Given the description of an element on the screen output the (x, y) to click on. 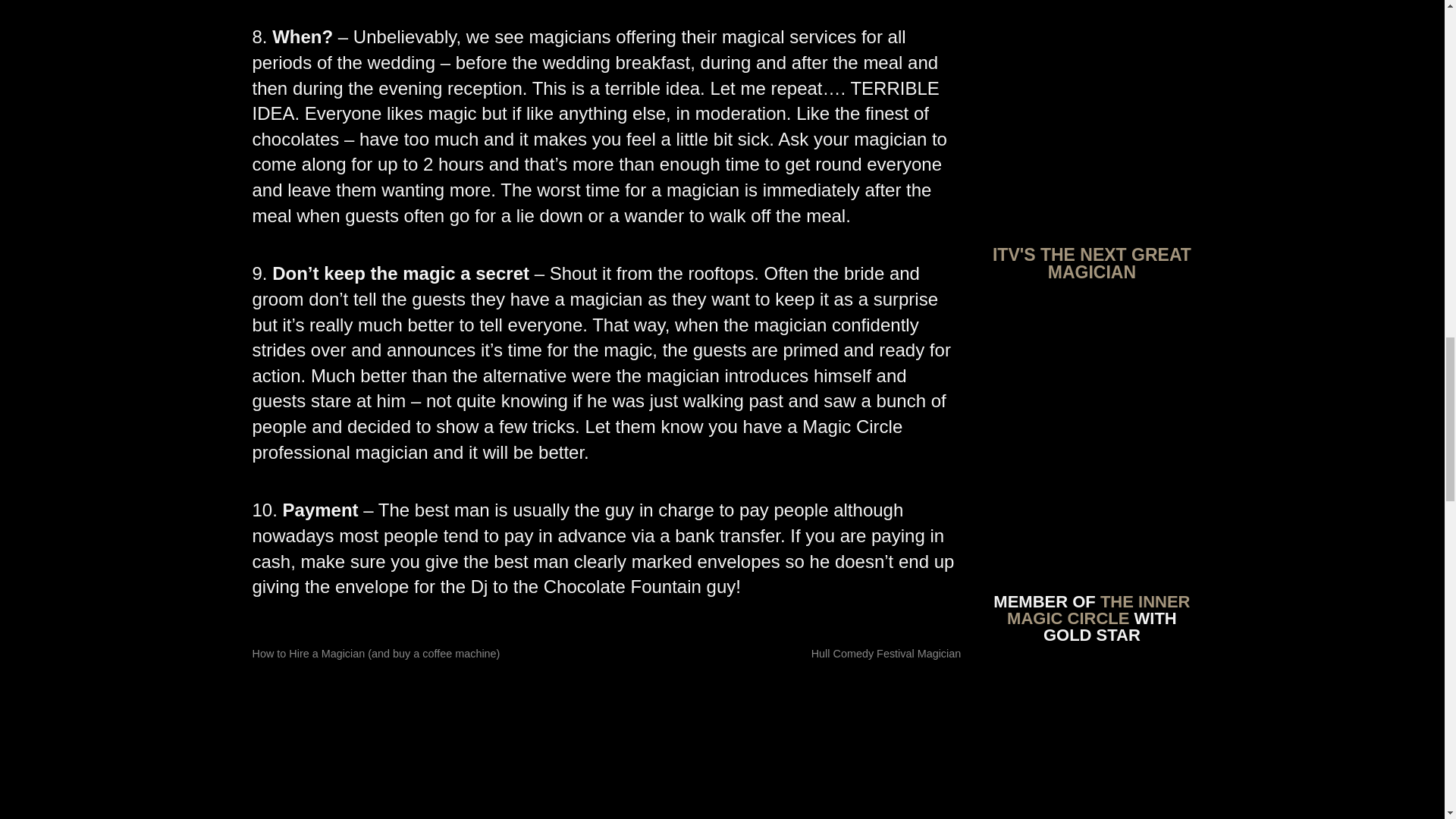
Hull Comedy Festival Magician (885, 653)
THE INNER MAGIC CIRCLE (1098, 610)
ITV'S THE NEXT GREAT MAGICIAN (1091, 262)
